Given the description of an element on the screen output the (x, y) to click on. 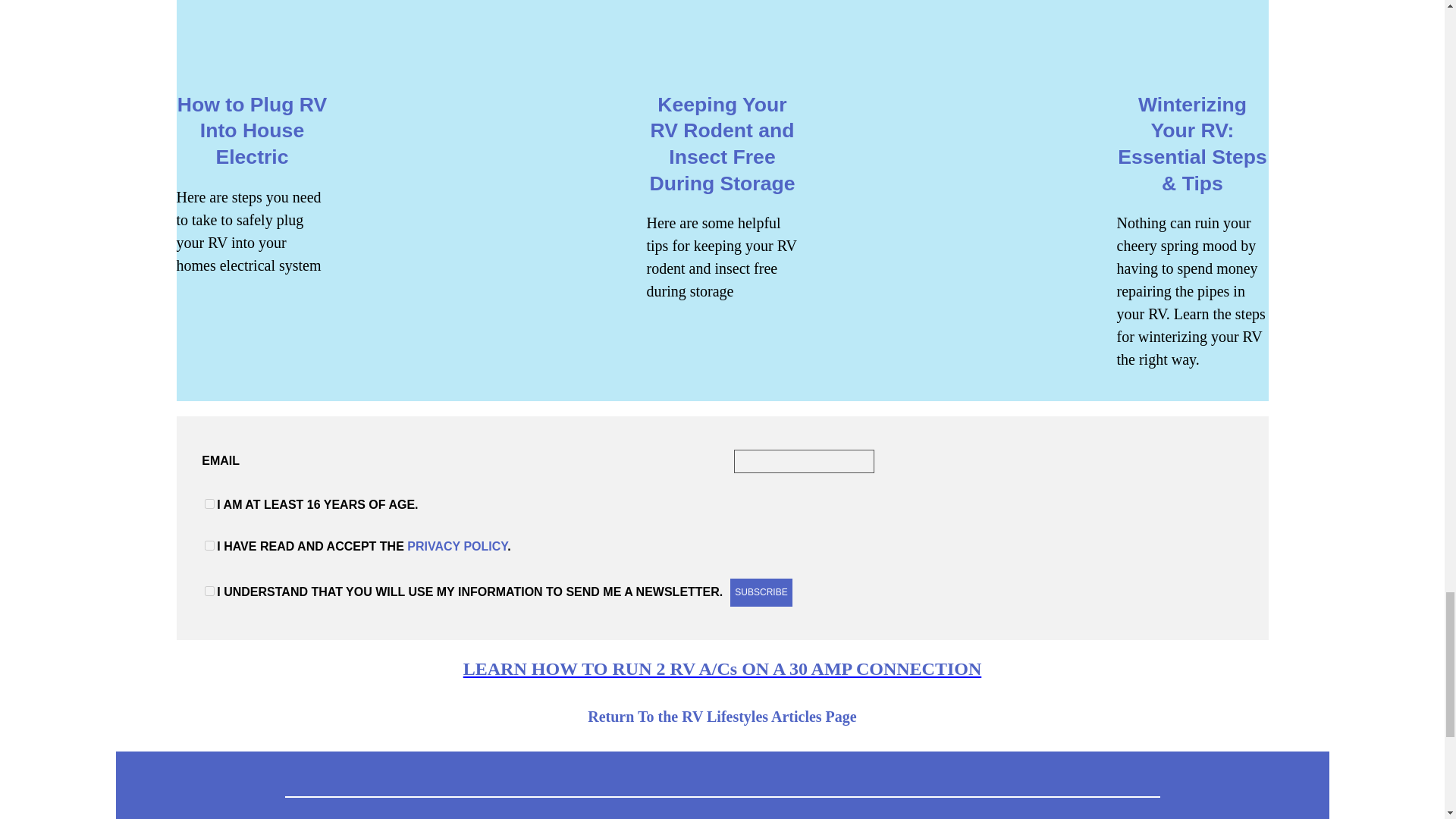
on (209, 591)
on (209, 545)
on (209, 503)
